Given the description of an element on the screen output the (x, y) to click on. 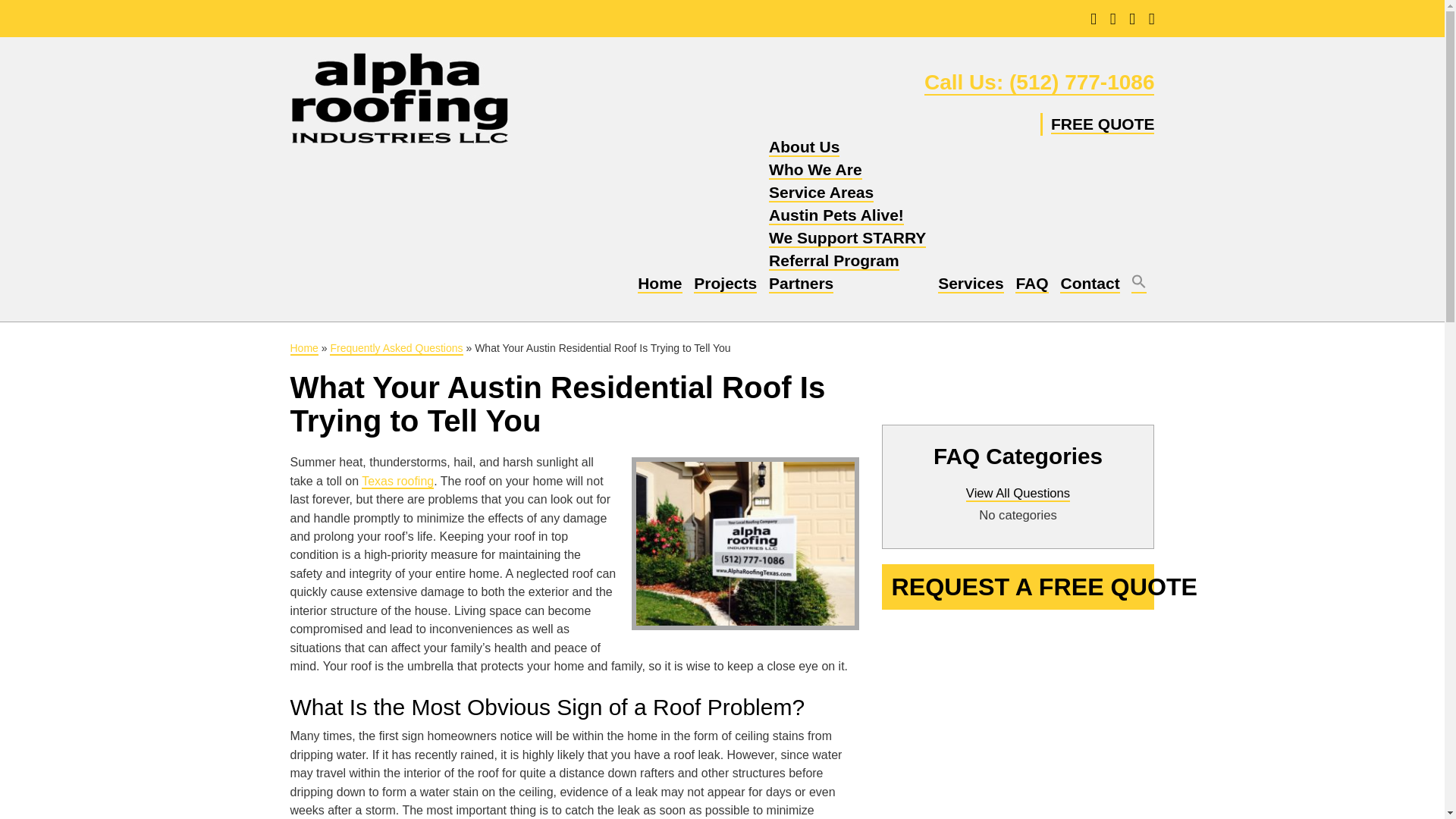
Alpha Roofing Industries, LLC (398, 101)
Contact (1089, 283)
Service Areas (820, 192)
We Support STARRY (847, 238)
Home (303, 348)
FAQ (1031, 283)
About Us (804, 147)
Partners (800, 283)
FREE QUOTE (1102, 124)
Frequently Asked Questions (396, 348)
